Given the description of an element on the screen output the (x, y) to click on. 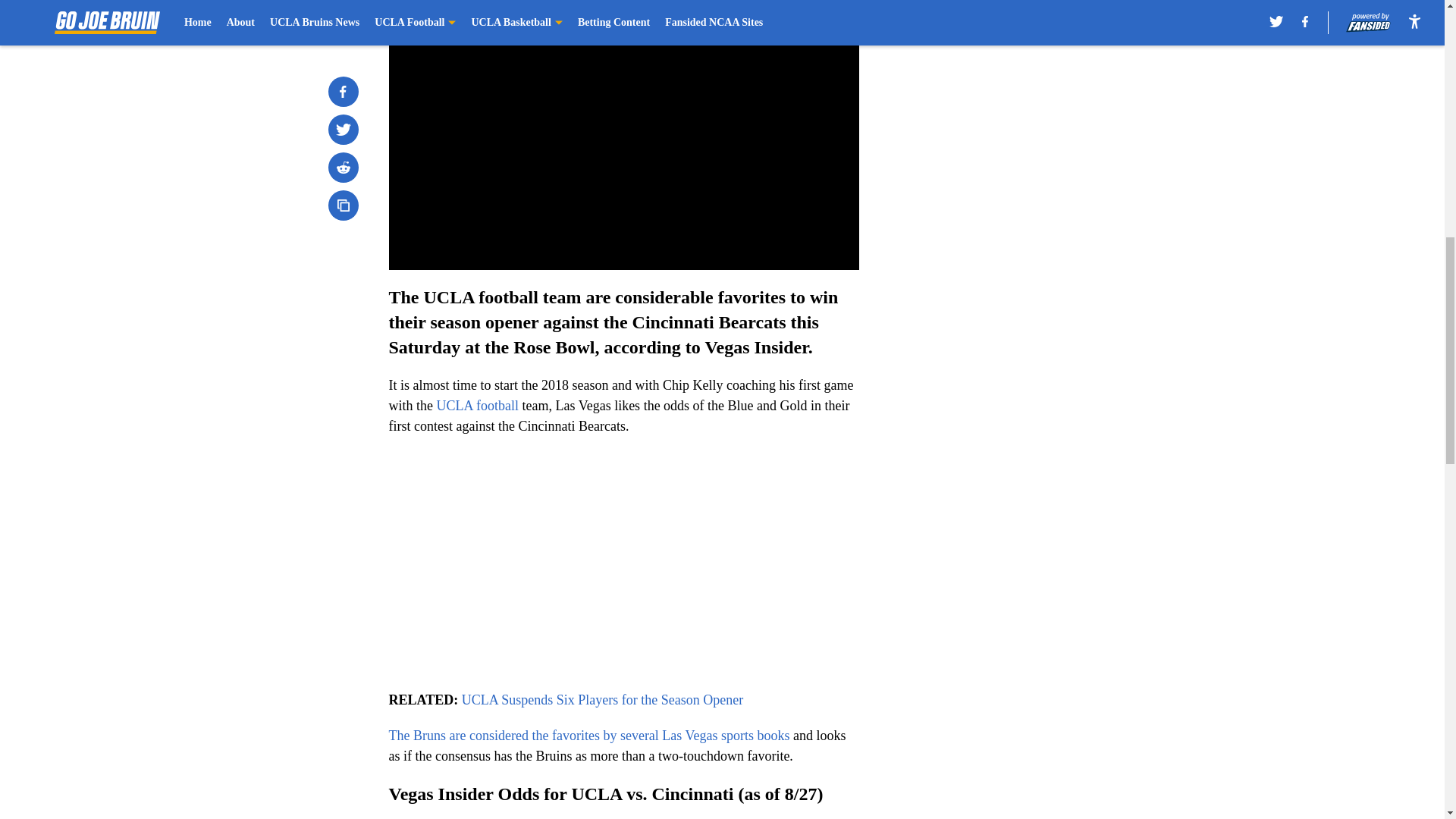
UCLA football (477, 405)
UCLA Suspends Six Players for the Season Opener (601, 699)
